Given the description of an element on the screen output the (x, y) to click on. 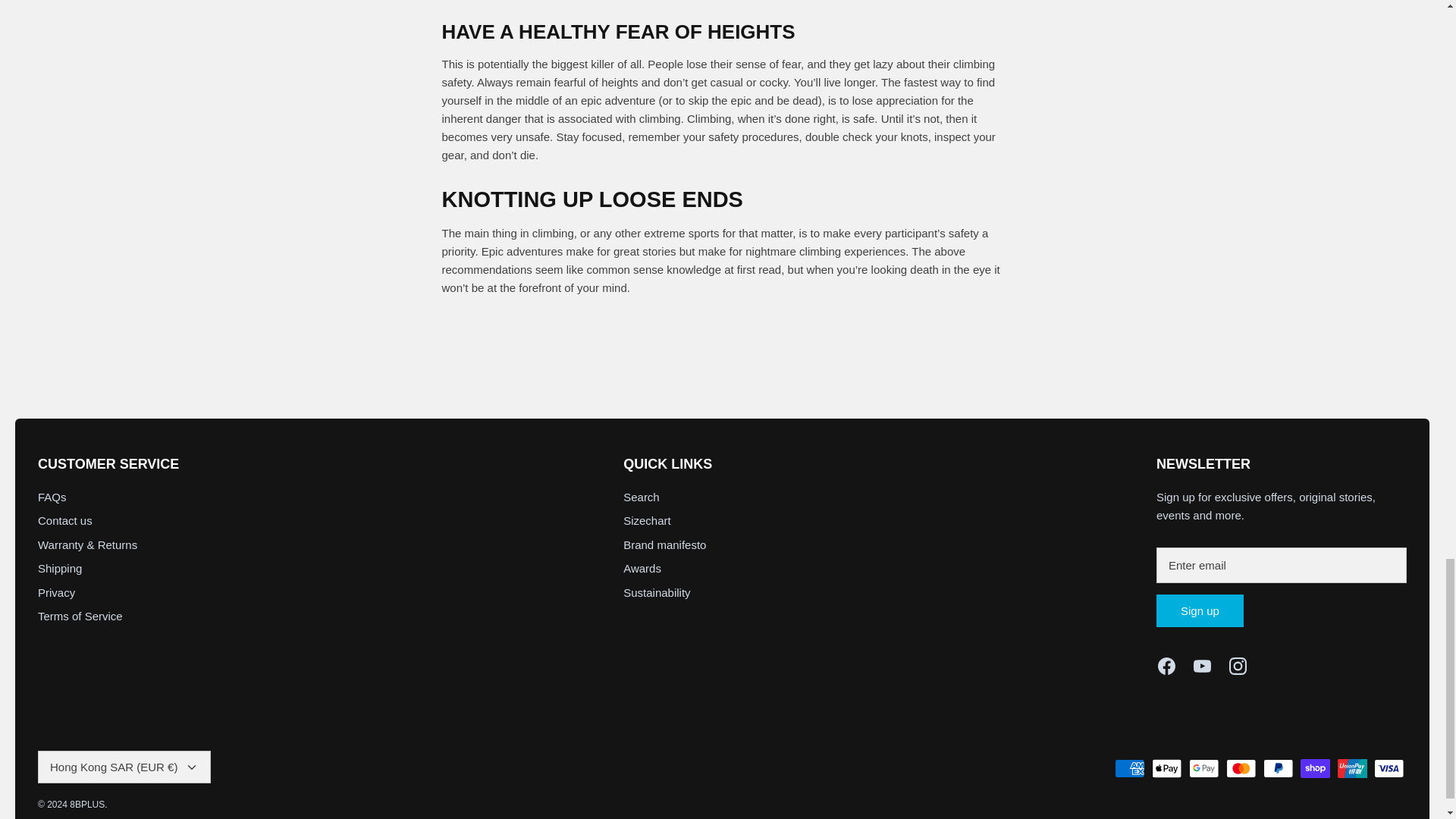
Mastercard (1240, 768)
Shop Pay (1315, 768)
Visa (1388, 768)
American Express (1129, 768)
Instagram (1237, 665)
Google Pay (1203, 768)
PayPal (1277, 768)
Youtube (1202, 665)
Apple Pay (1166, 768)
Union Pay (1352, 768)
